Given the description of an element on the screen output the (x, y) to click on. 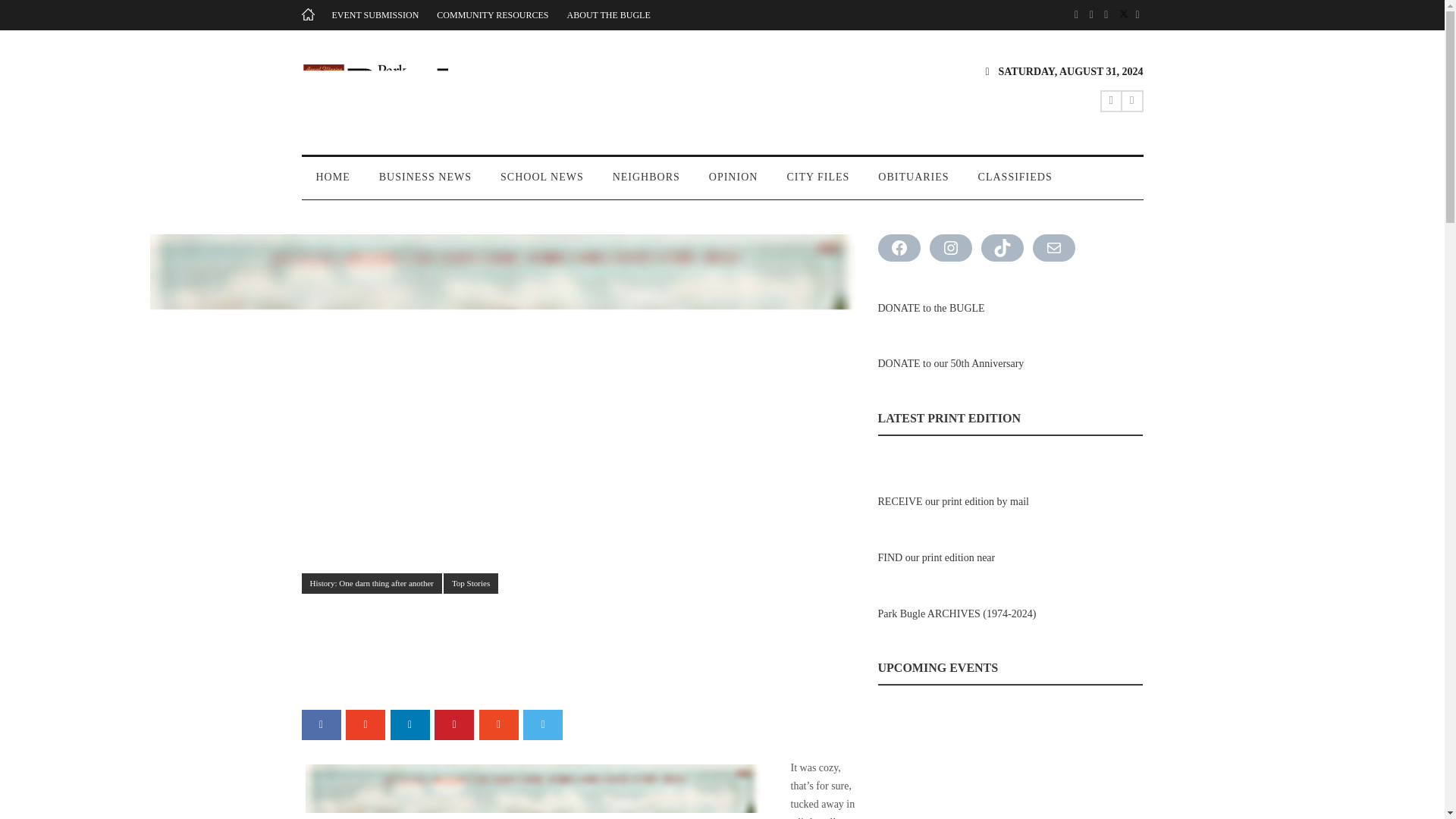
EVENT SUBMISSION (375, 15)
SCHOOL NEWS (542, 183)
Posts by Roger Bergerson (343, 655)
HOME (333, 183)
OPINION (733, 183)
CITY FILES (817, 183)
BUSINESS NEWS (425, 183)
COMMUNITY RESOURCES (492, 15)
CLASSIFIEDS (1015, 183)
History: One darn thing after another (371, 583)
